Given the description of an element on the screen output the (x, y) to click on. 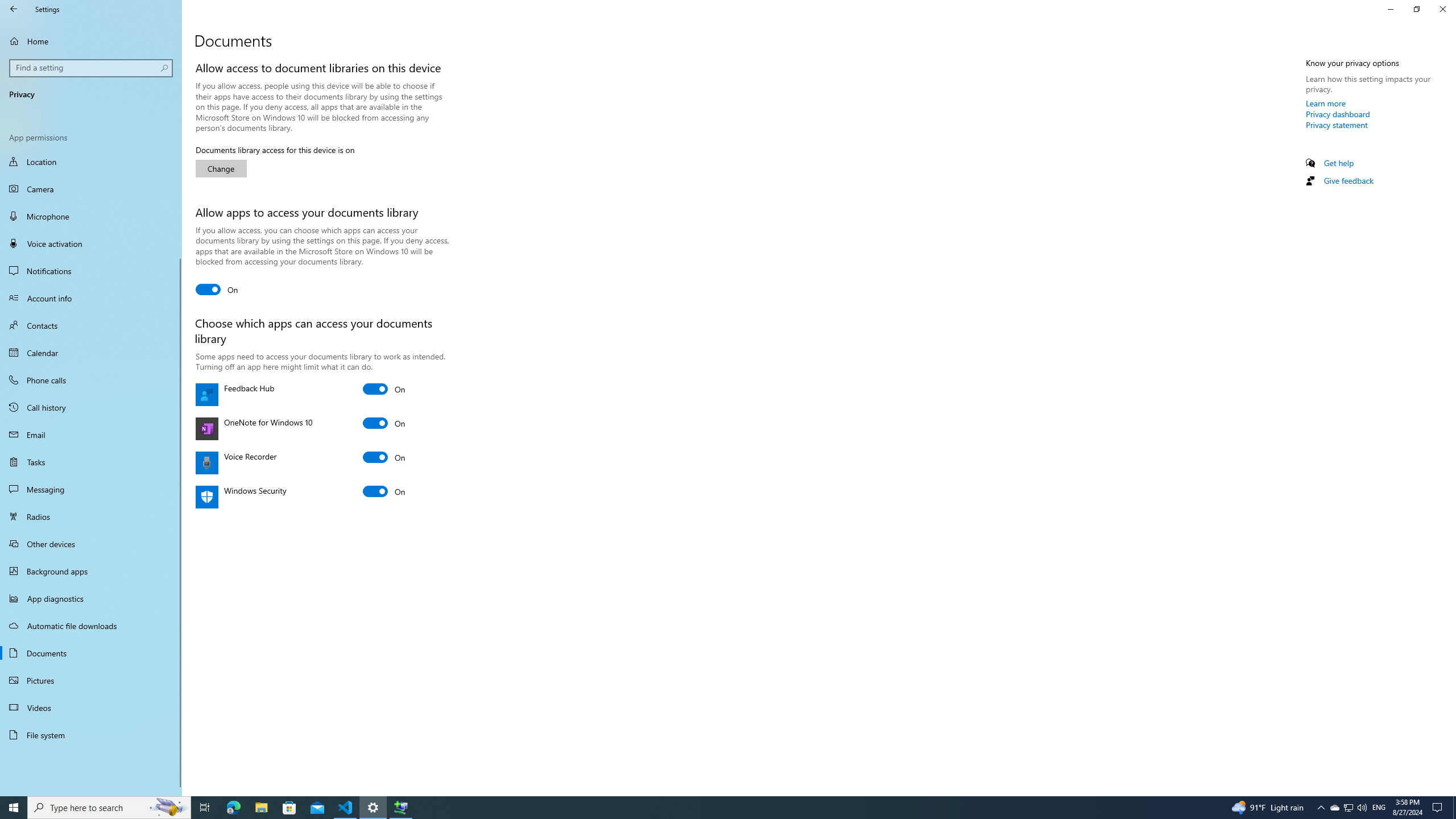
Feedback Hub (384, 389)
Notifications (91, 270)
Microsoft Store (289, 807)
Camera (91, 188)
Start (13, 807)
Documents (91, 652)
Windows Security (384, 491)
Privacy dashboard (1338, 113)
Voice Recorder (384, 456)
File Explorer (261, 807)
Contacts (91, 325)
Q2790: 100% (1361, 807)
Privacy statement (1336, 124)
